Given the description of an element on the screen output the (x, y) to click on. 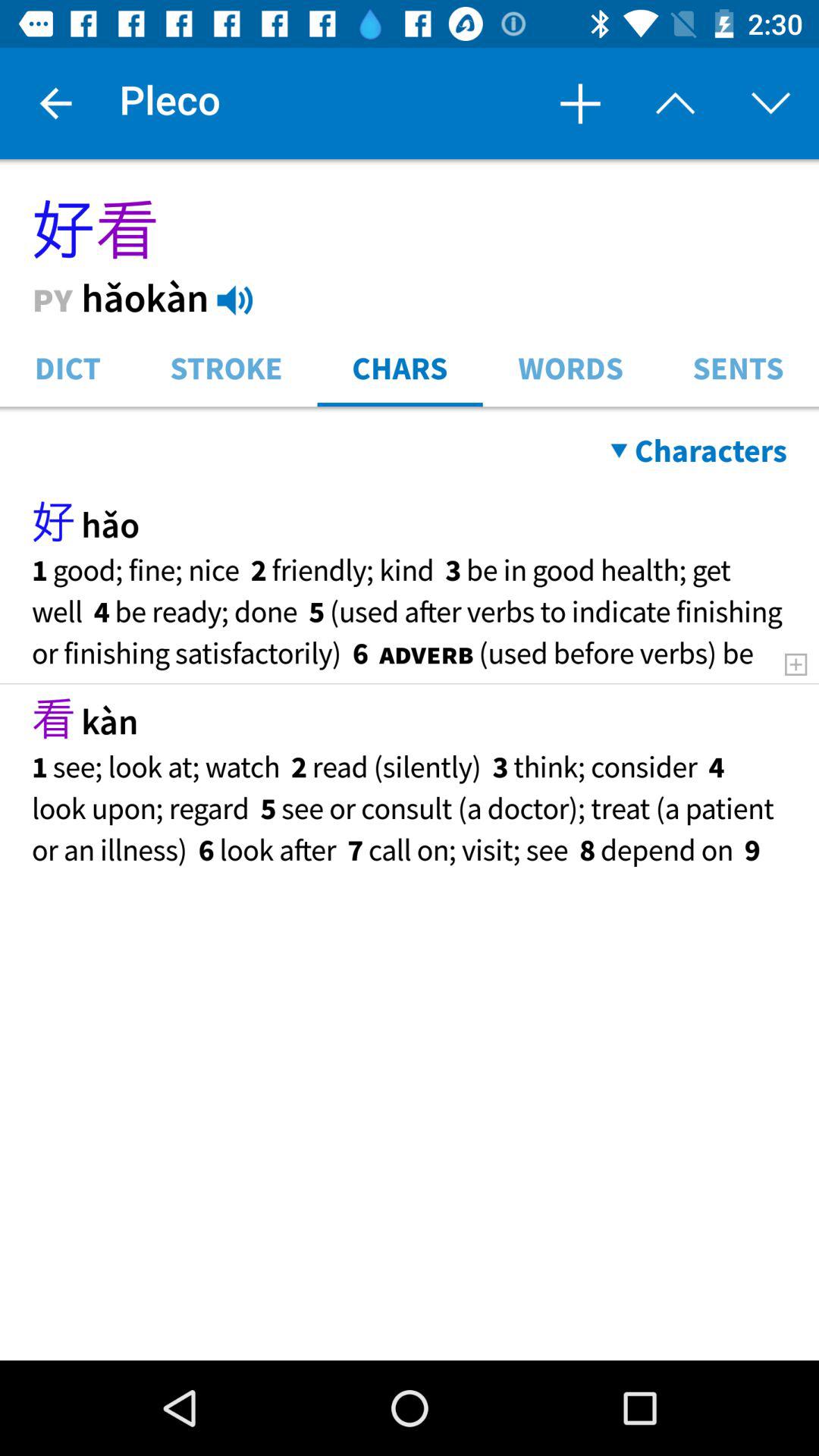
open item next to the sents item (570, 366)
